Given the description of an element on the screen output the (x, y) to click on. 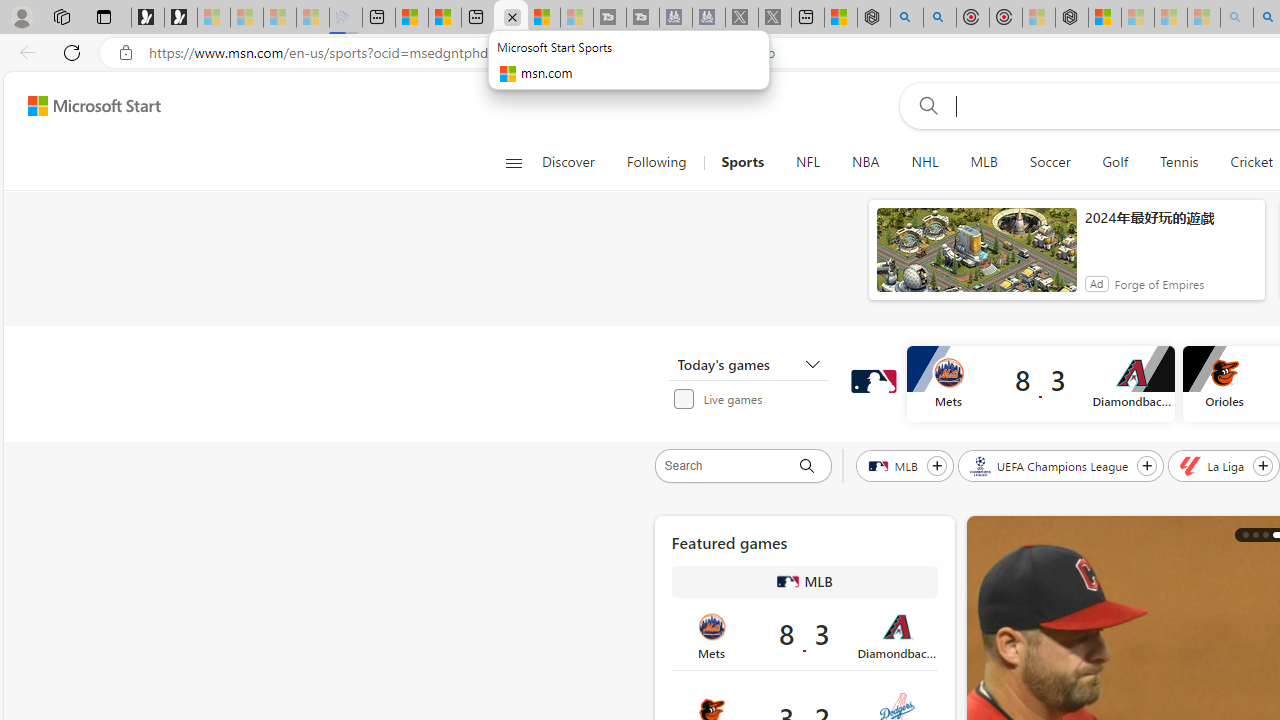
Soccer (1050, 162)
Class: around-the-league-card (804, 635)
